Given the description of an element on the screen output the (x, y) to click on. 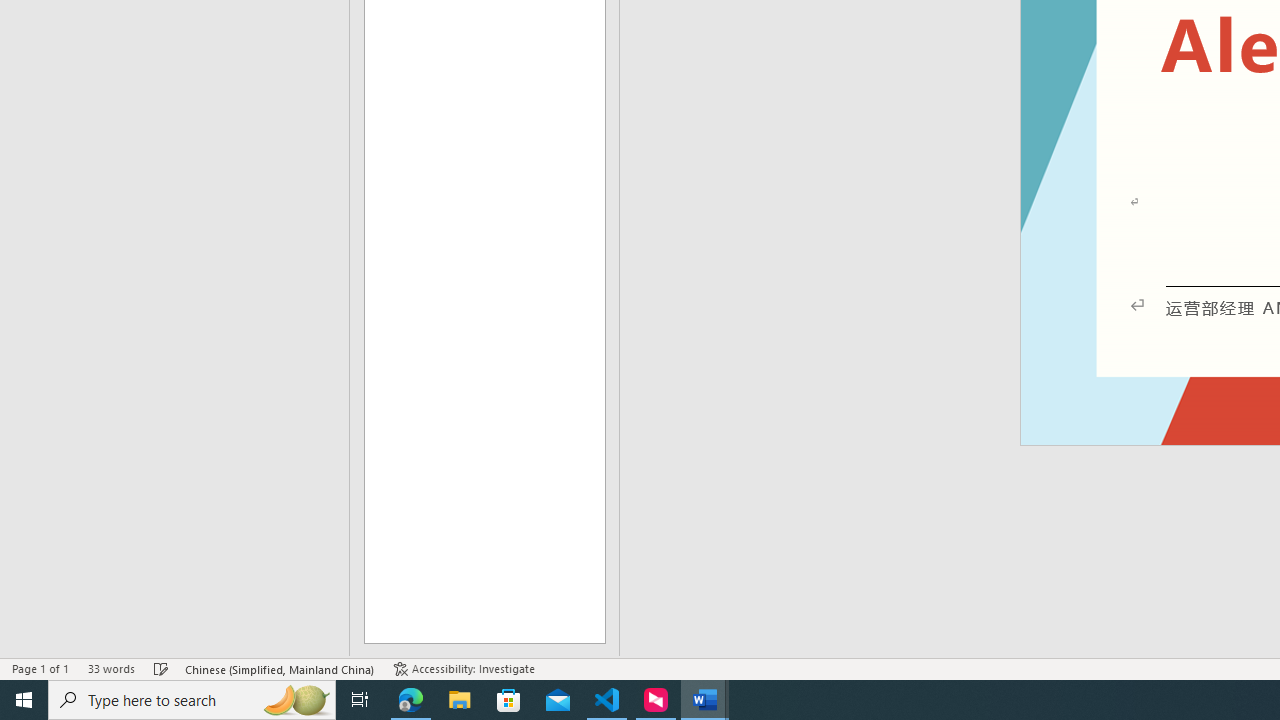
Language Chinese (Simplified, Mainland China) (279, 668)
Accessibility Checker Accessibility: Investigate (464, 668)
Spelling and Grammar Check Checking (161, 668)
Page Number Page 1 of 1 (39, 668)
